Given the description of an element on the screen output the (x, y) to click on. 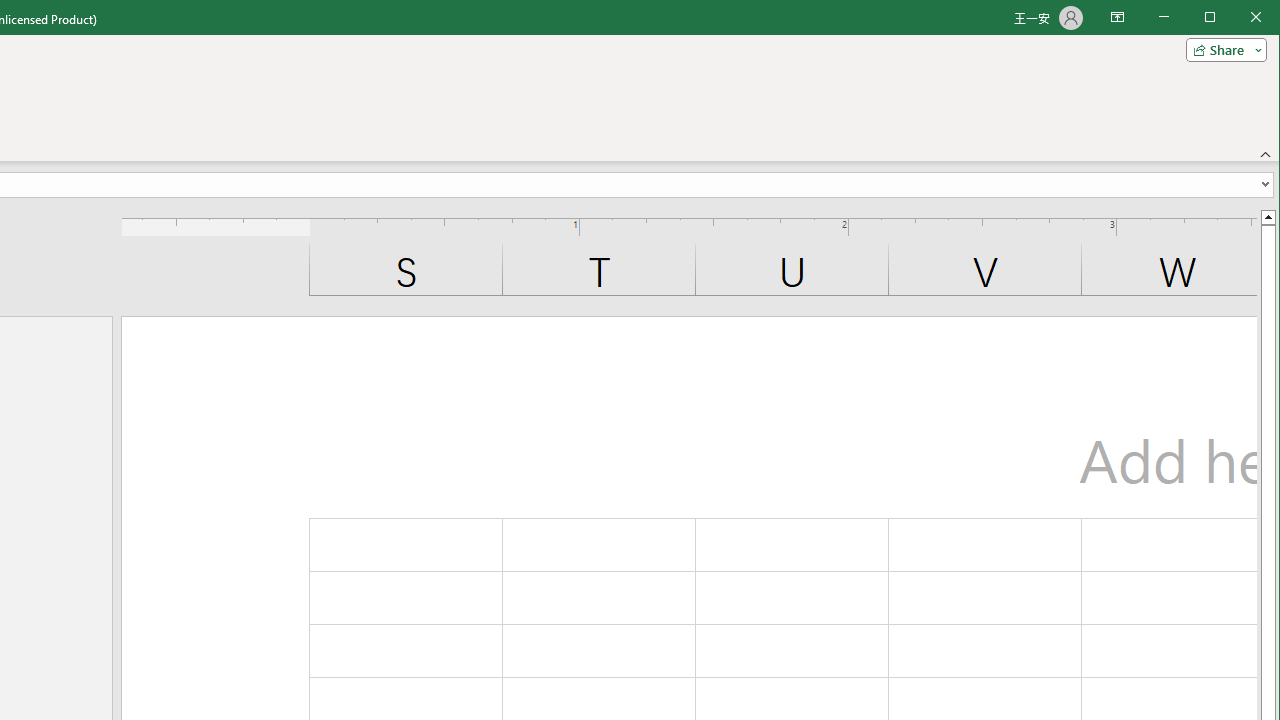
Maximize (1238, 18)
